Given the description of an element on the screen output the (x, y) to click on. 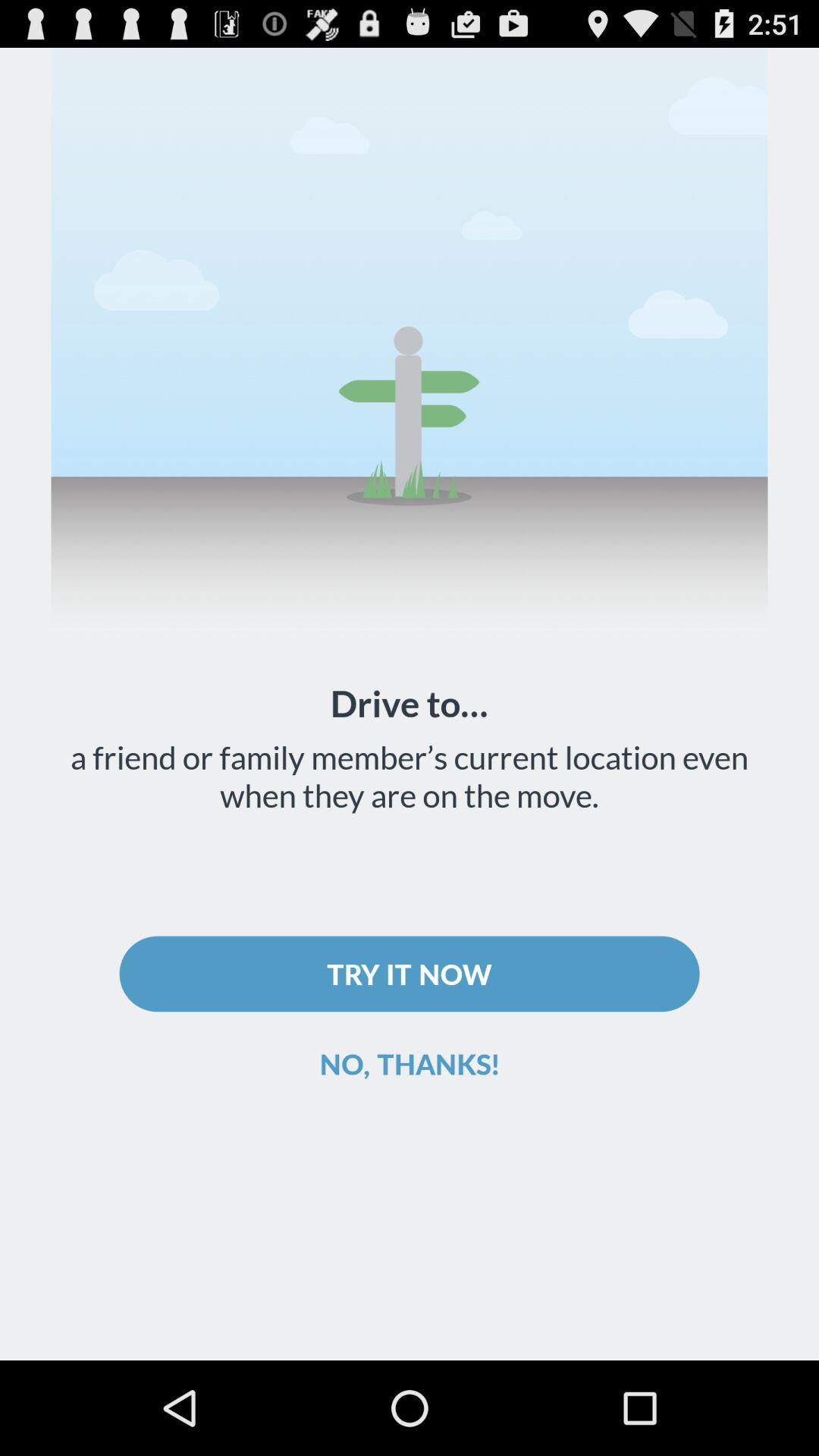
tap icon below a friend or (409, 973)
